Given the description of an element on the screen output the (x, y) to click on. 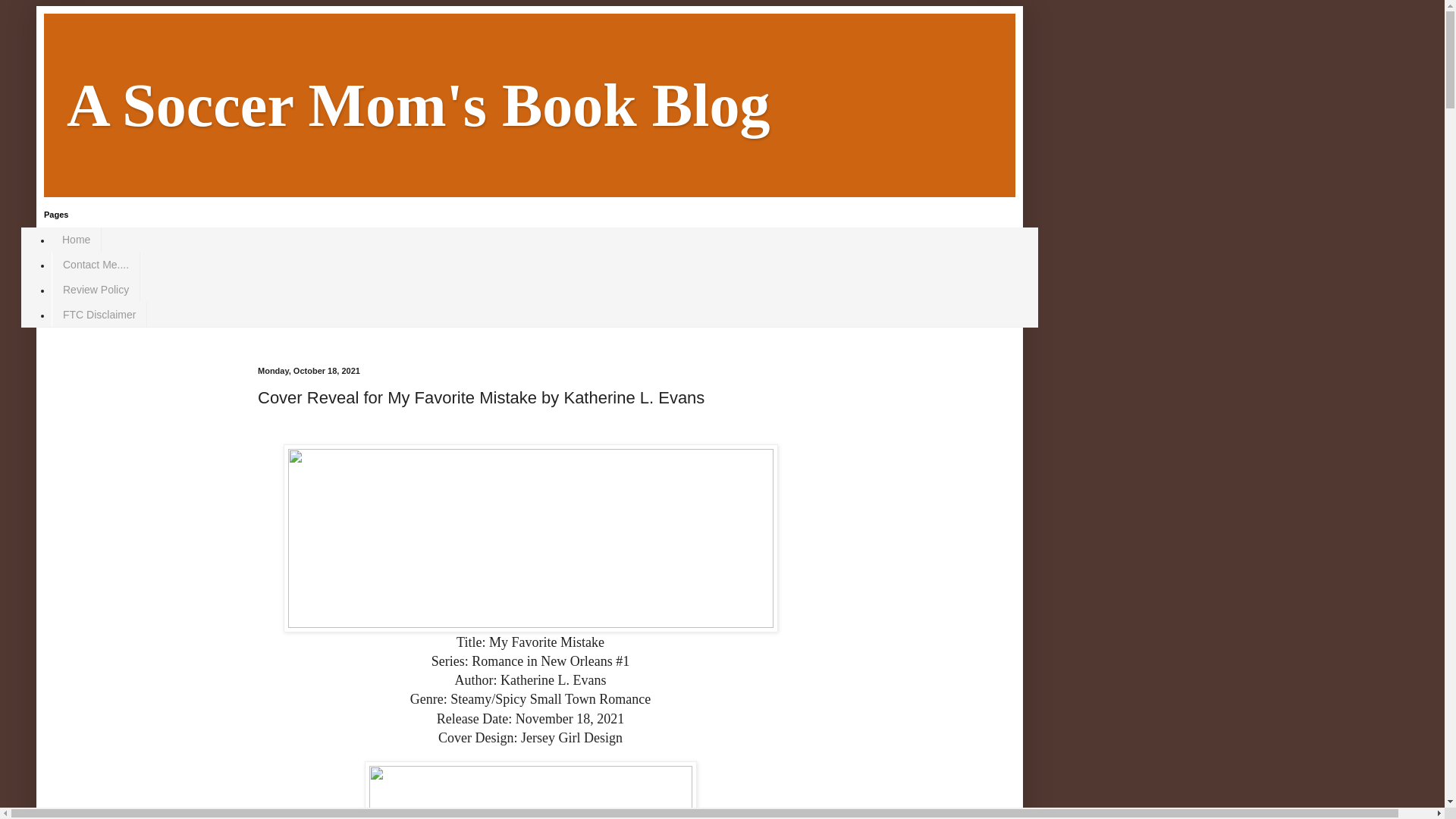
Home (75, 239)
FTC Disclaimer (98, 314)
Review Policy (94, 289)
A Soccer Mom's Book Blog (418, 105)
Contact Me.... (94, 264)
